Given the description of an element on the screen output the (x, y) to click on. 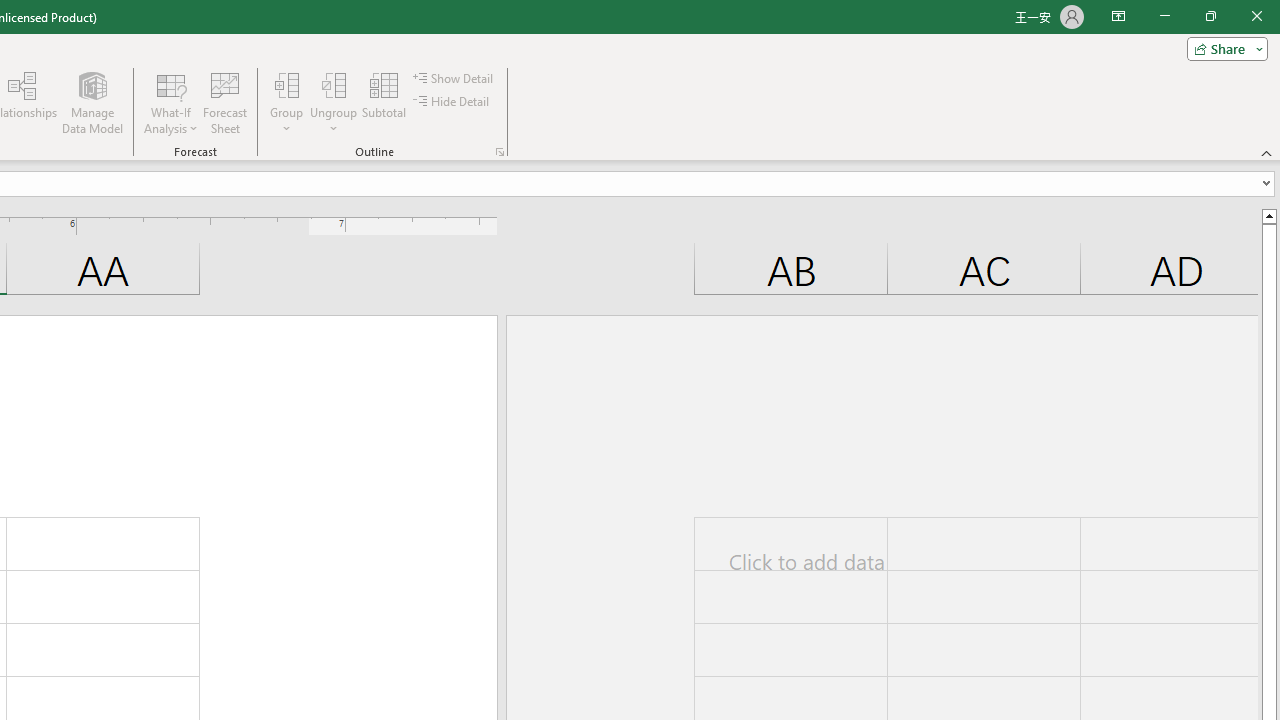
More Options (333, 121)
Ungroup... (333, 102)
Show Detail (454, 78)
Forecast Sheet (224, 102)
Share (1223, 48)
Collapse the Ribbon (1267, 152)
Ribbon Display Options (1118, 16)
What-If Analysis (171, 102)
Subtotal (384, 102)
Minimize (1164, 16)
Restore Down (1210, 16)
Ungroup... (333, 84)
Group... (287, 102)
Manage Data Model (92, 102)
